Given the description of an element on the screen output the (x, y) to click on. 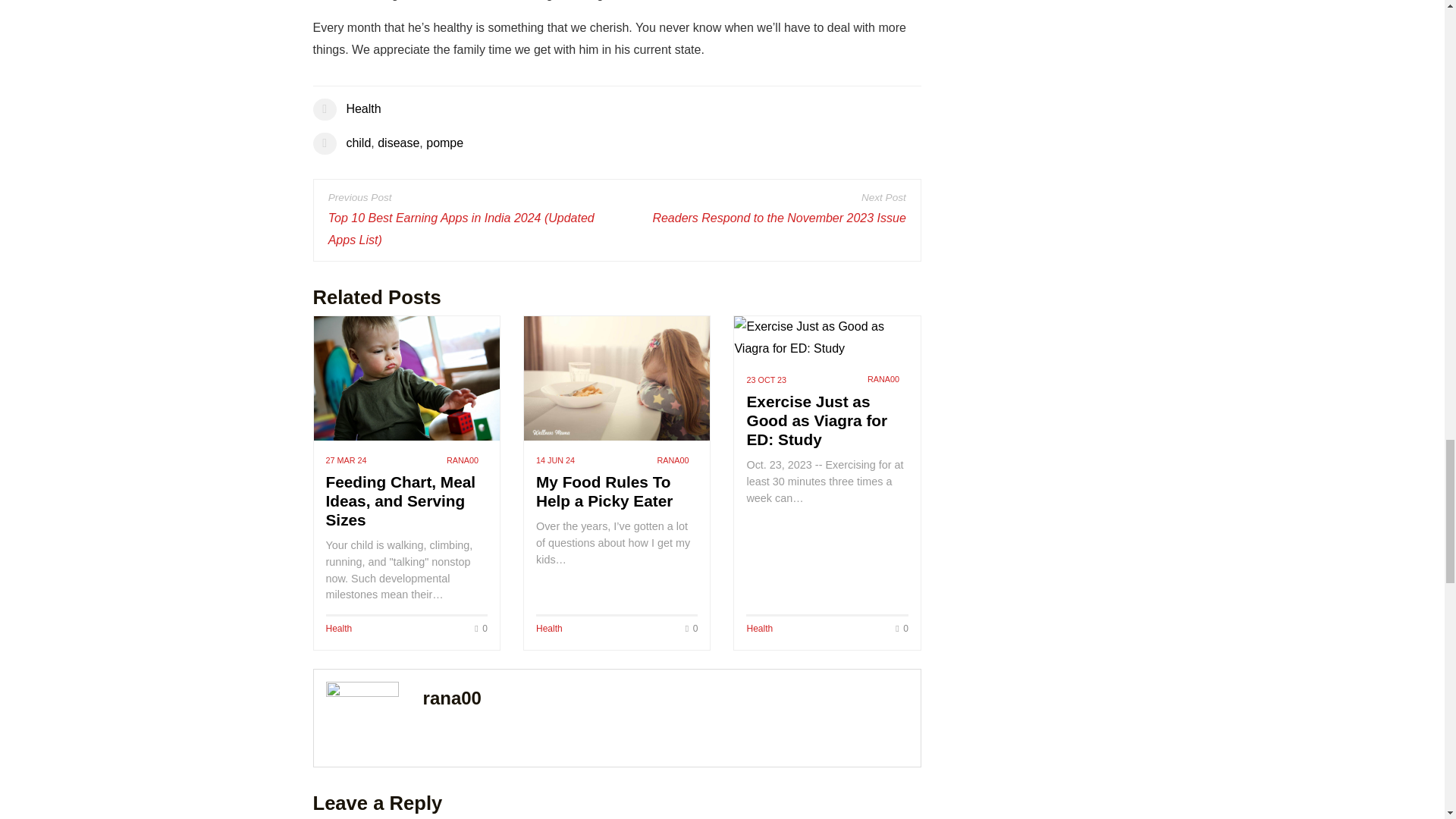
27 MAR 24 (346, 460)
Feeding Chart, Meal Ideas, and Serving Sizes (406, 378)
Exercise Just as Good as Viagra for ED: Study (815, 420)
Health (548, 628)
Health (363, 108)
disease (398, 142)
Health (759, 628)
My Food Rules To Help a Picky Eater (603, 491)
child (358, 142)
My Food Rules To Help a Picky Eater (617, 378)
pompe (444, 142)
23 OCT 23 (765, 380)
RANA00 (672, 460)
Health (339, 628)
RANA00 (883, 379)
